Given the description of an element on the screen output the (x, y) to click on. 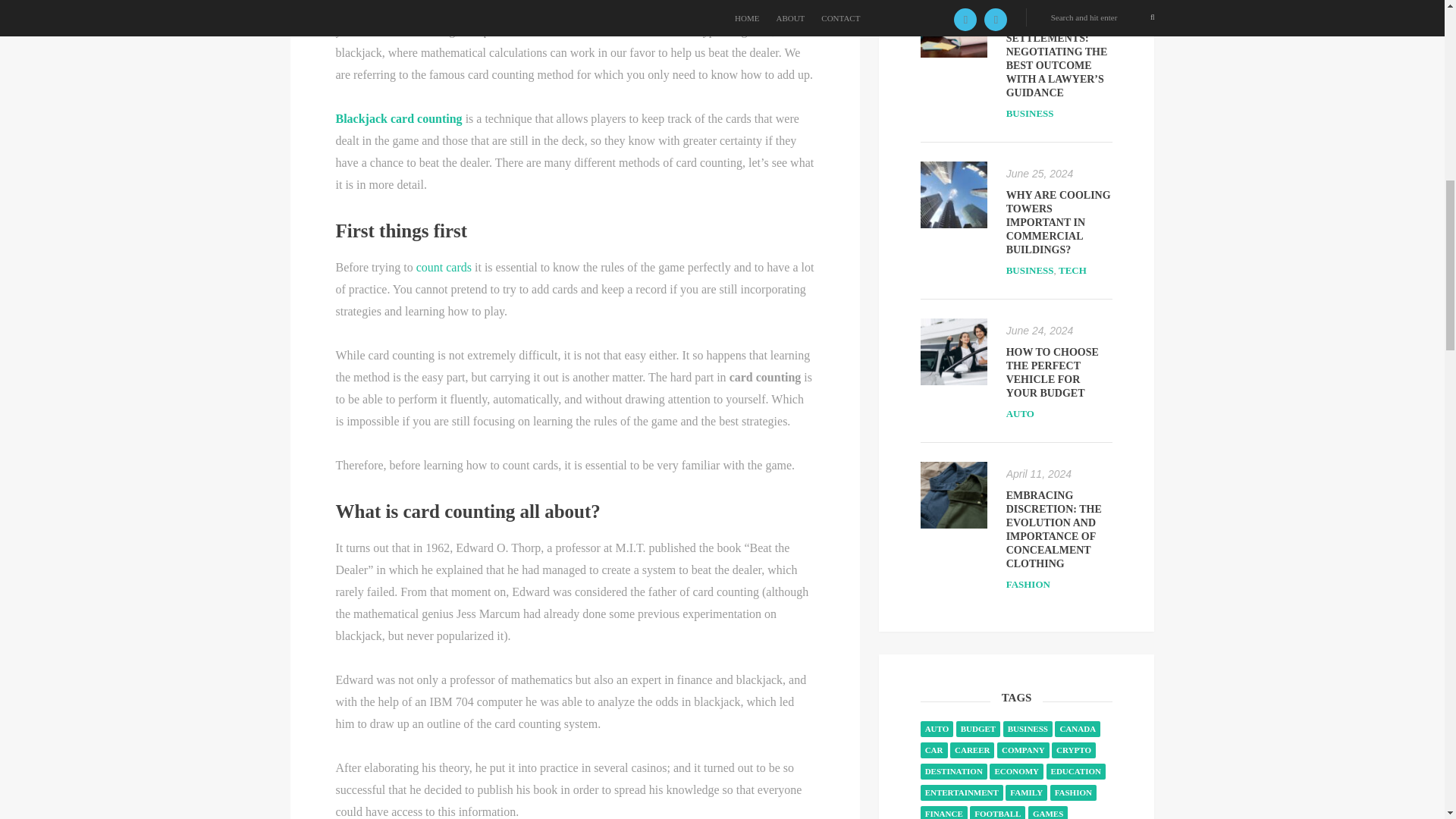
Blackjack card counting (397, 118)
count cards (443, 267)
